Given the description of an element on the screen output the (x, y) to click on. 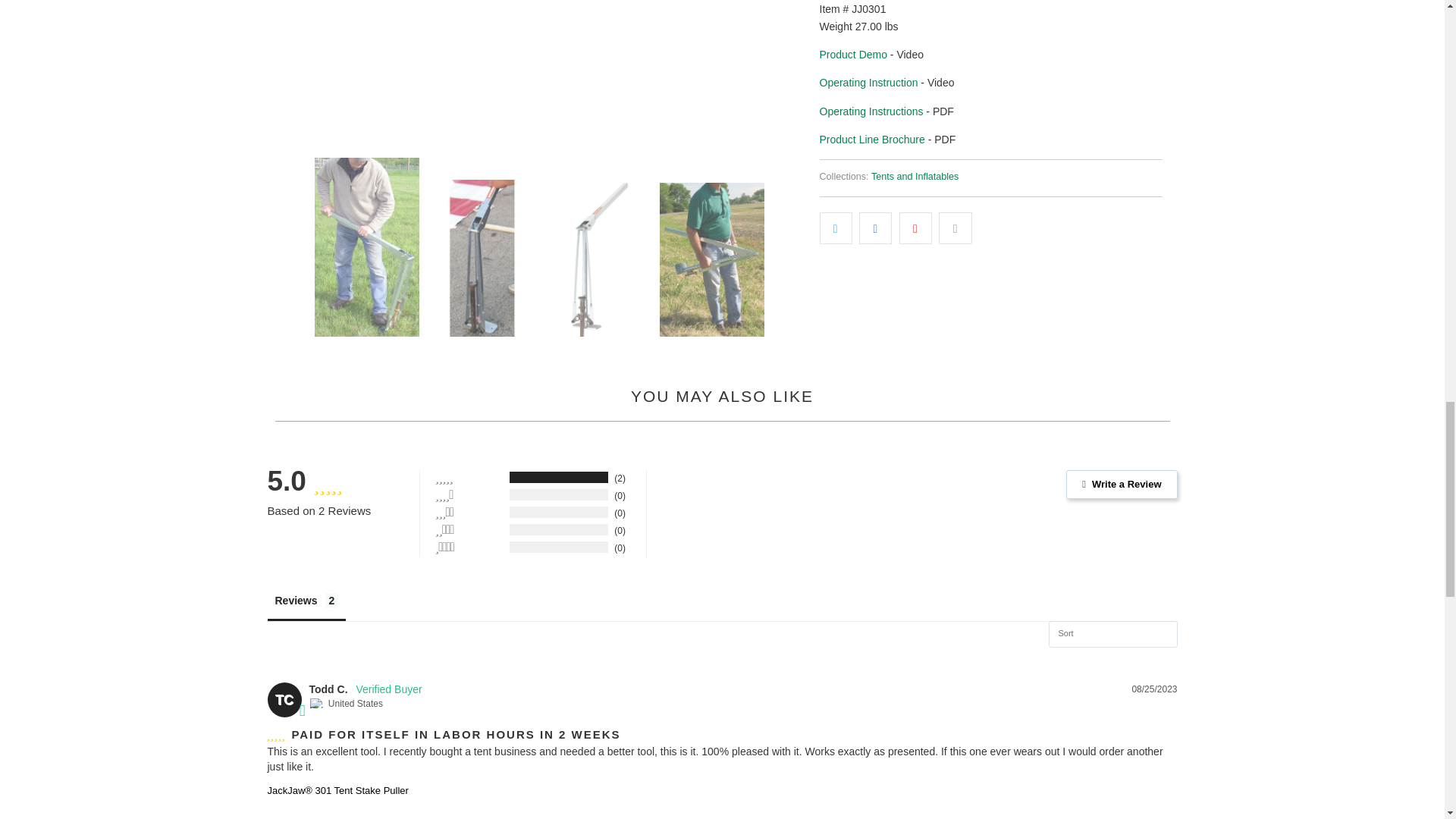
Tents and Inflatables (914, 176)
Email this to a friend (955, 228)
Share this on Pinterest (915, 228)
Share this on Facebook (875, 228)
Share this on Twitter (834, 228)
